Given the description of an element on the screen output the (x, y) to click on. 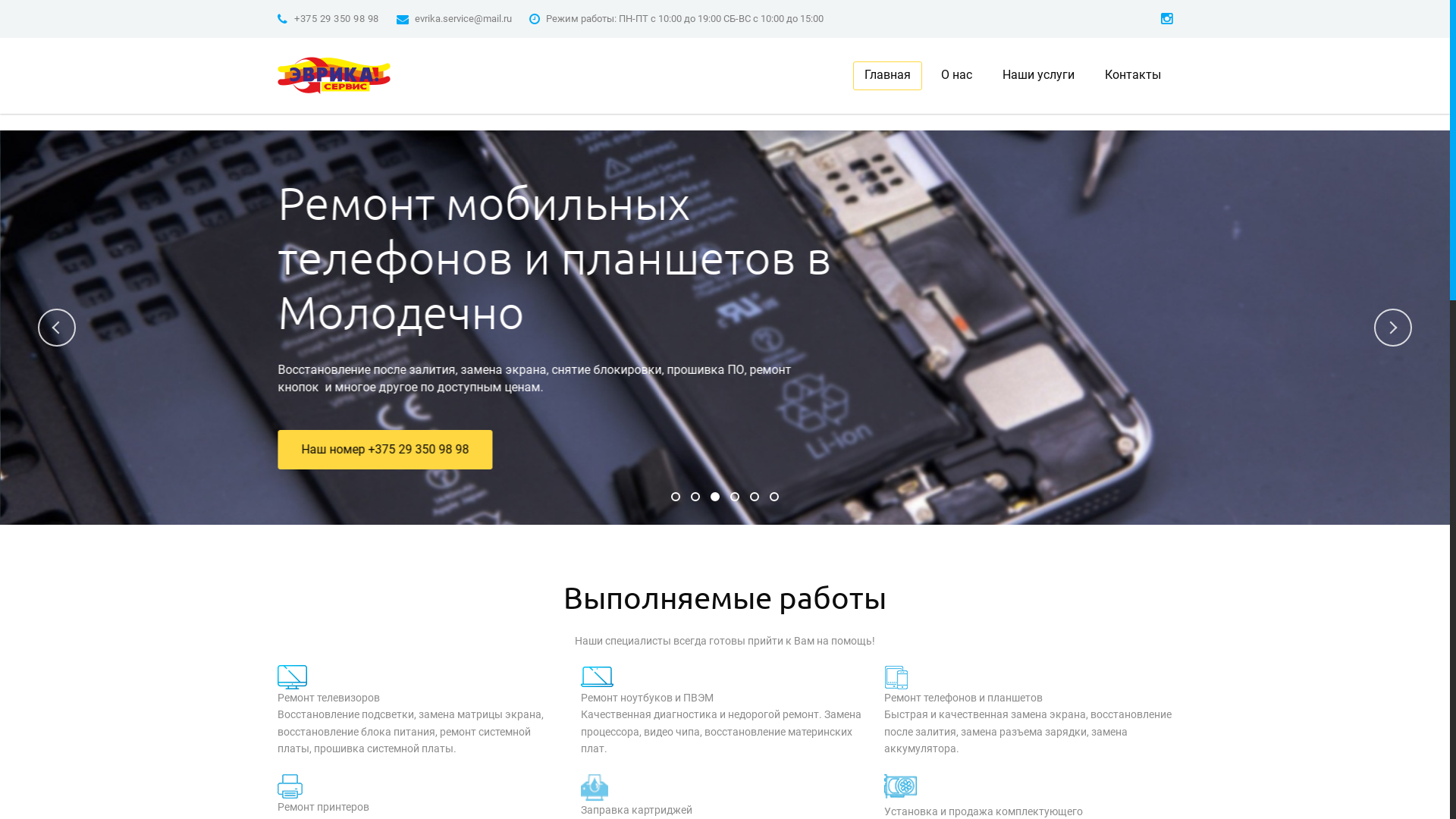
evrika.service@mail.ru Element type: text (462, 18)
+375 29 350 98 98 Element type: text (336, 18)
